Given the description of an element on the screen output the (x, y) to click on. 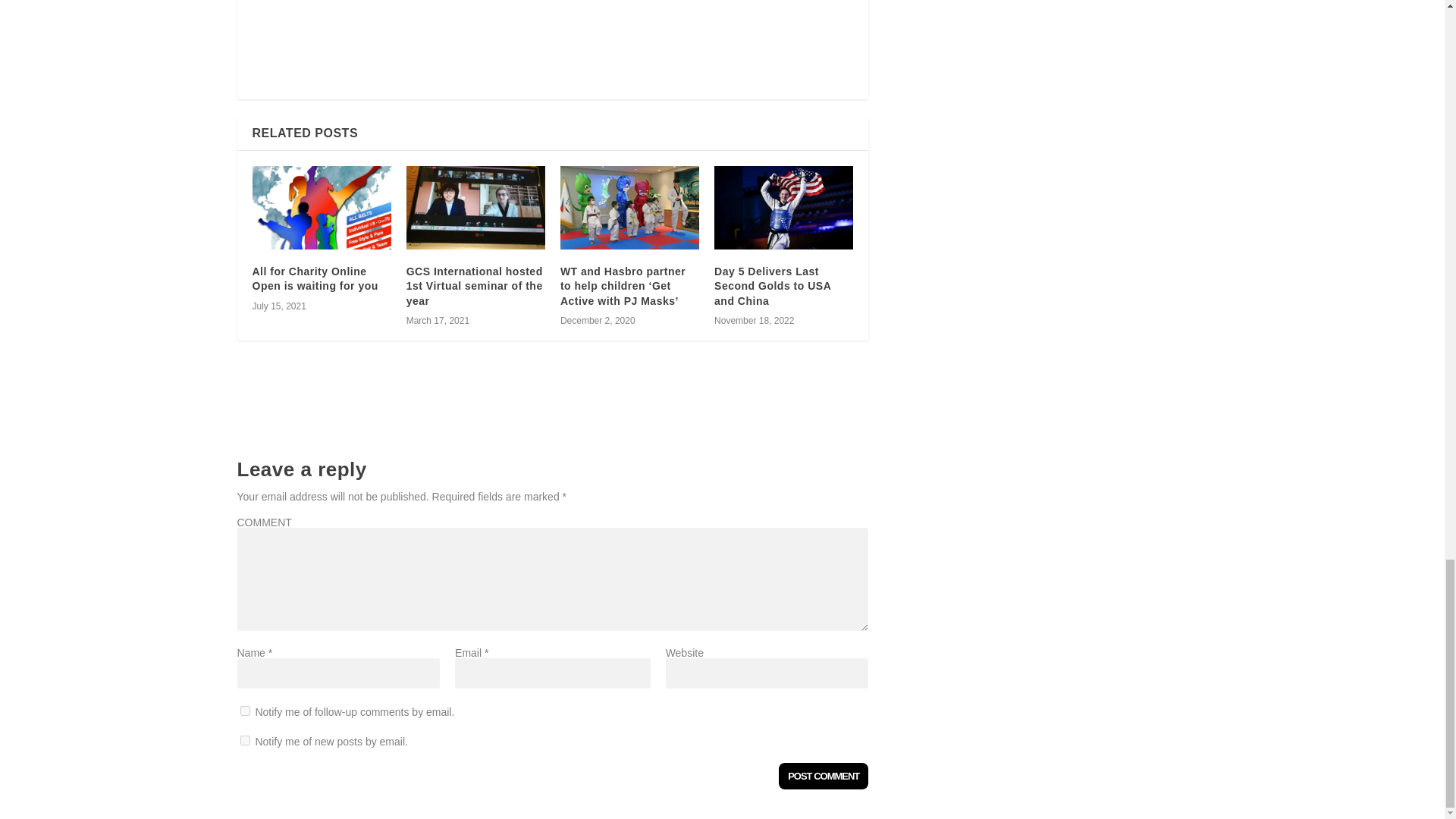
subscribe (244, 740)
Day 5 Delivers Last Second Golds to USA and China (772, 286)
All for Charity Online Open is waiting for you (320, 207)
All for Charity Online Open is waiting for you (314, 278)
Post Comment (822, 775)
Day 5 Delivers Last Second Golds to USA and China (783, 207)
GCS International hosted 1st Virtual seminar of the year (474, 286)
Post Comment (822, 775)
GCS International hosted 1st Virtual seminar of the year (475, 207)
subscribe (244, 710)
